Given the description of an element on the screen output the (x, y) to click on. 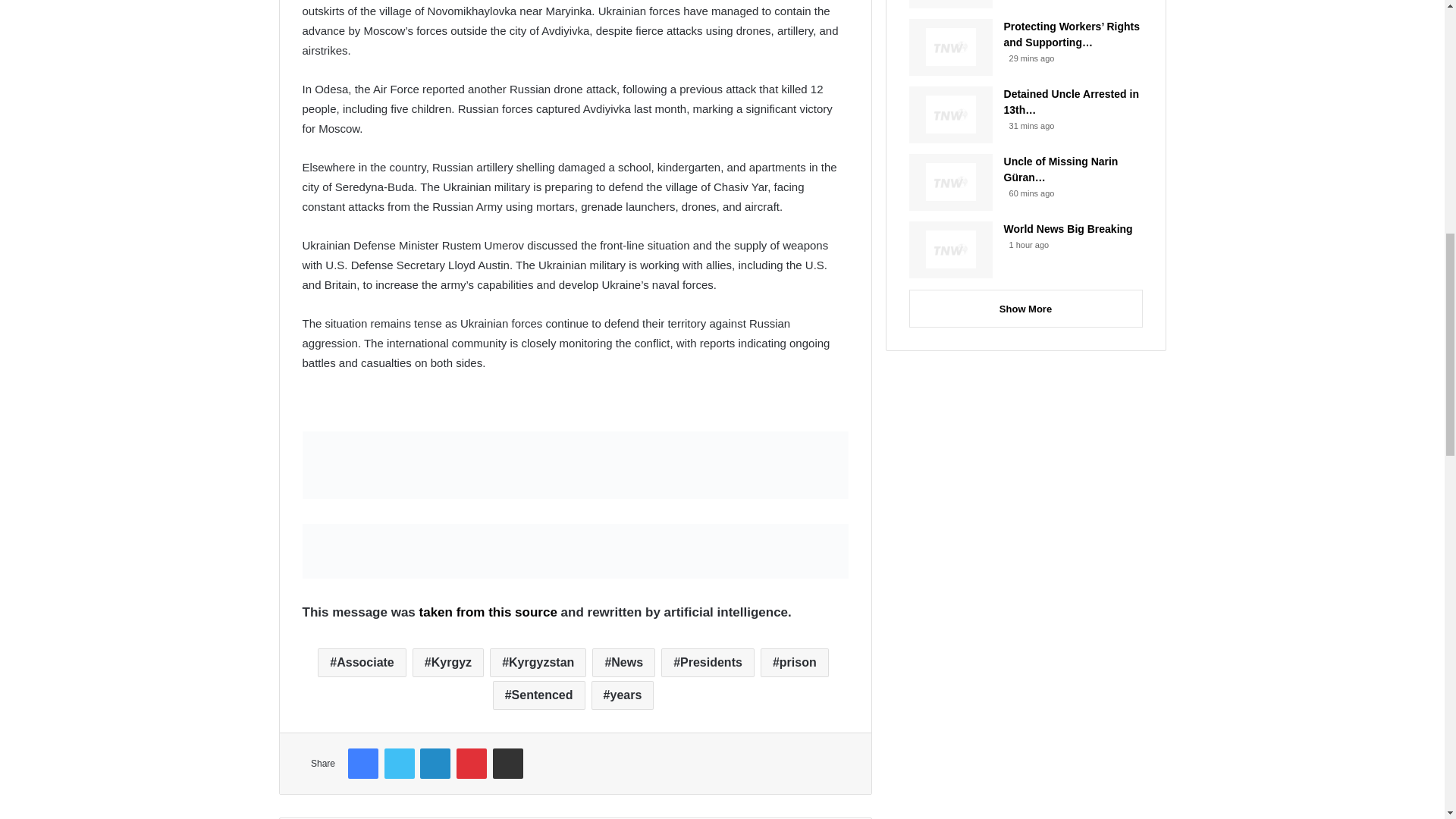
Facebook (362, 763)
Twitter (399, 763)
LinkedIn (434, 763)
